Given the description of an element on the screen output the (x, y) to click on. 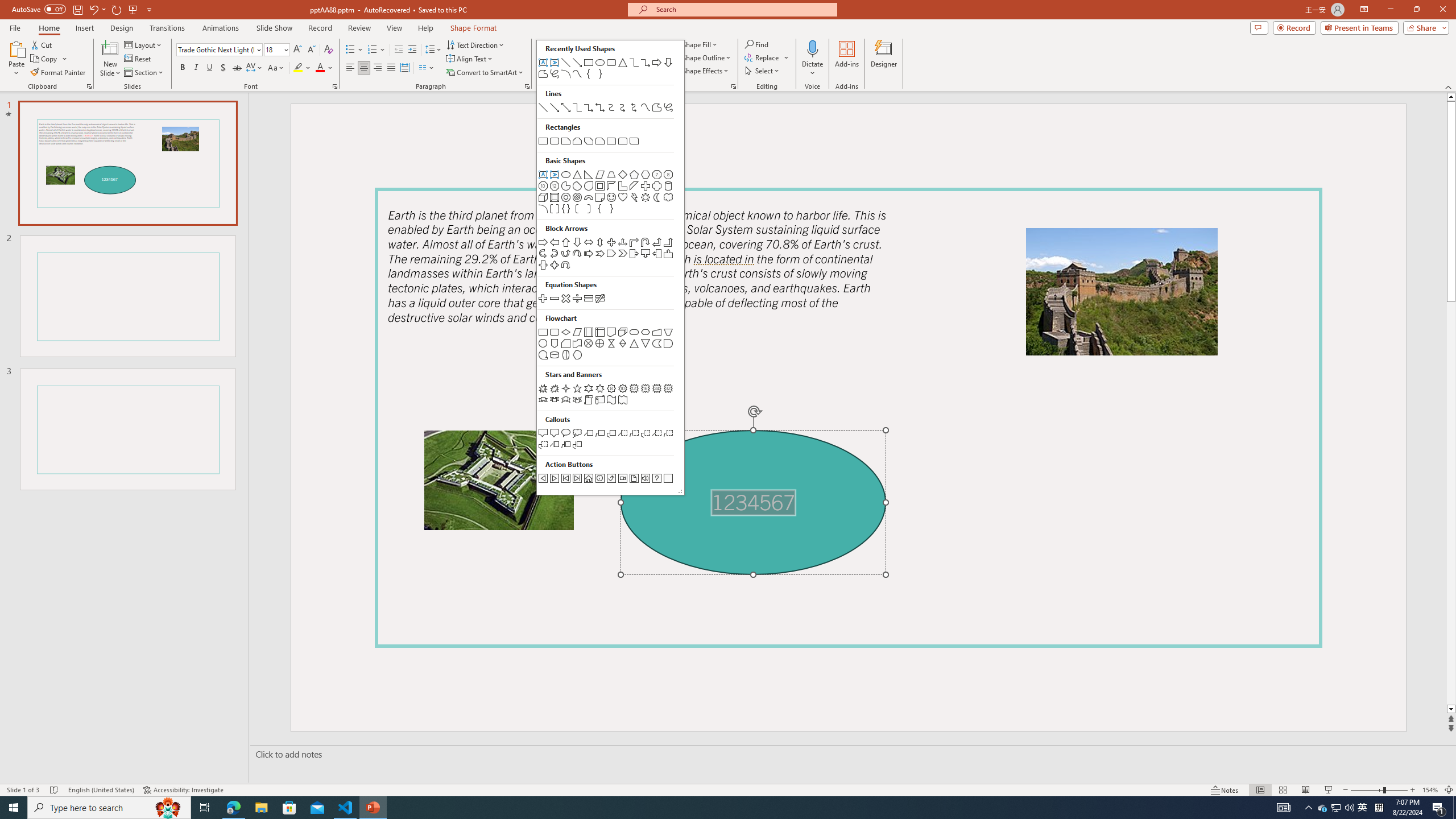
Zoom 154% (1430, 790)
